Given the description of an element on the screen output the (x, y) to click on. 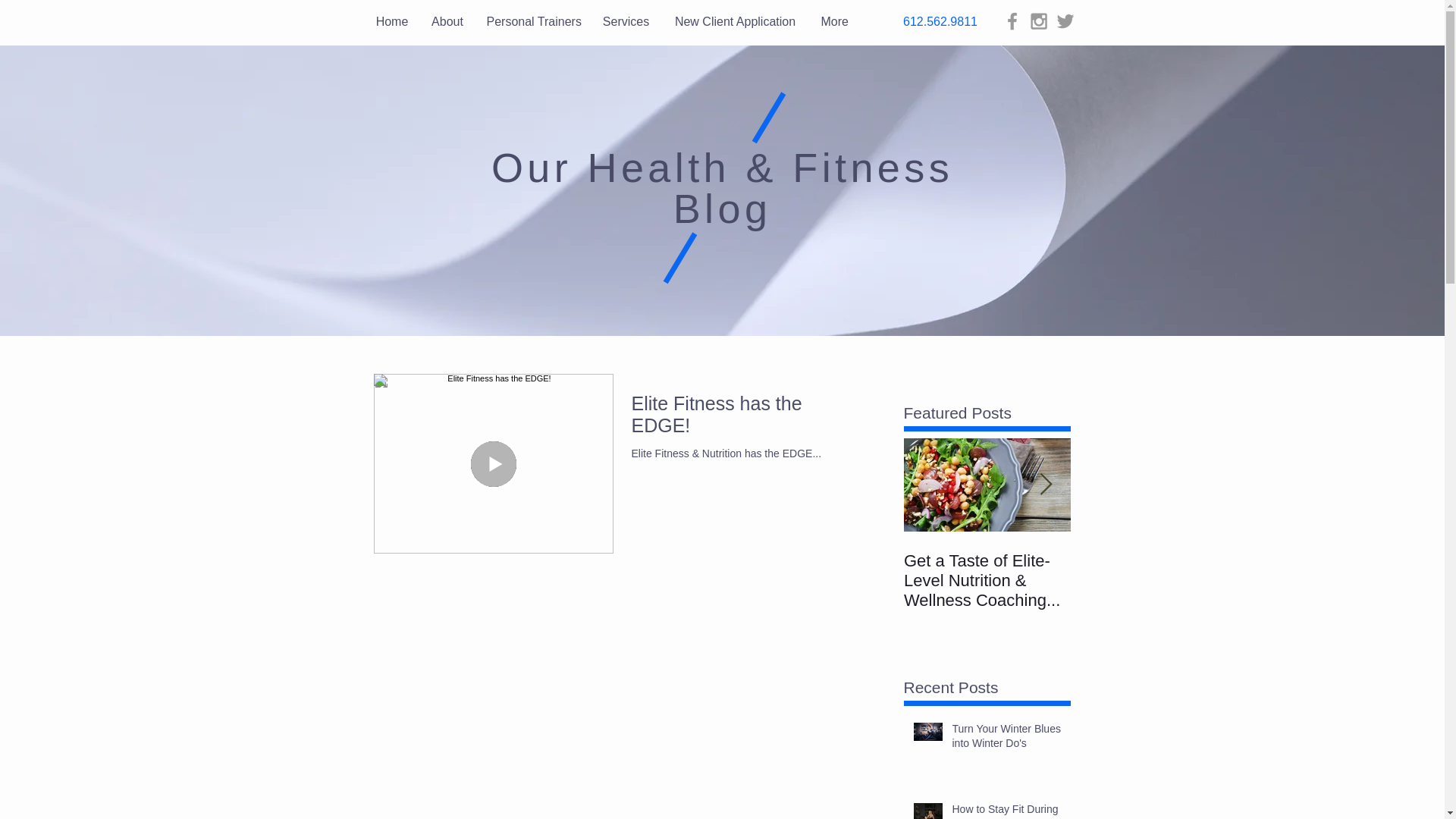
Elite Fitness has the EDGE! (746, 418)
Turn Your Winter Blues into Winter Do's (1006, 739)
Personal Trainers (532, 21)
SPRING into Fitness... (1153, 570)
About (448, 21)
New Client Application (735, 21)
Services (626, 21)
How to Stay Fit During the Holidays (1006, 810)
Home (391, 21)
